Given the description of an element on the screen output the (x, y) to click on. 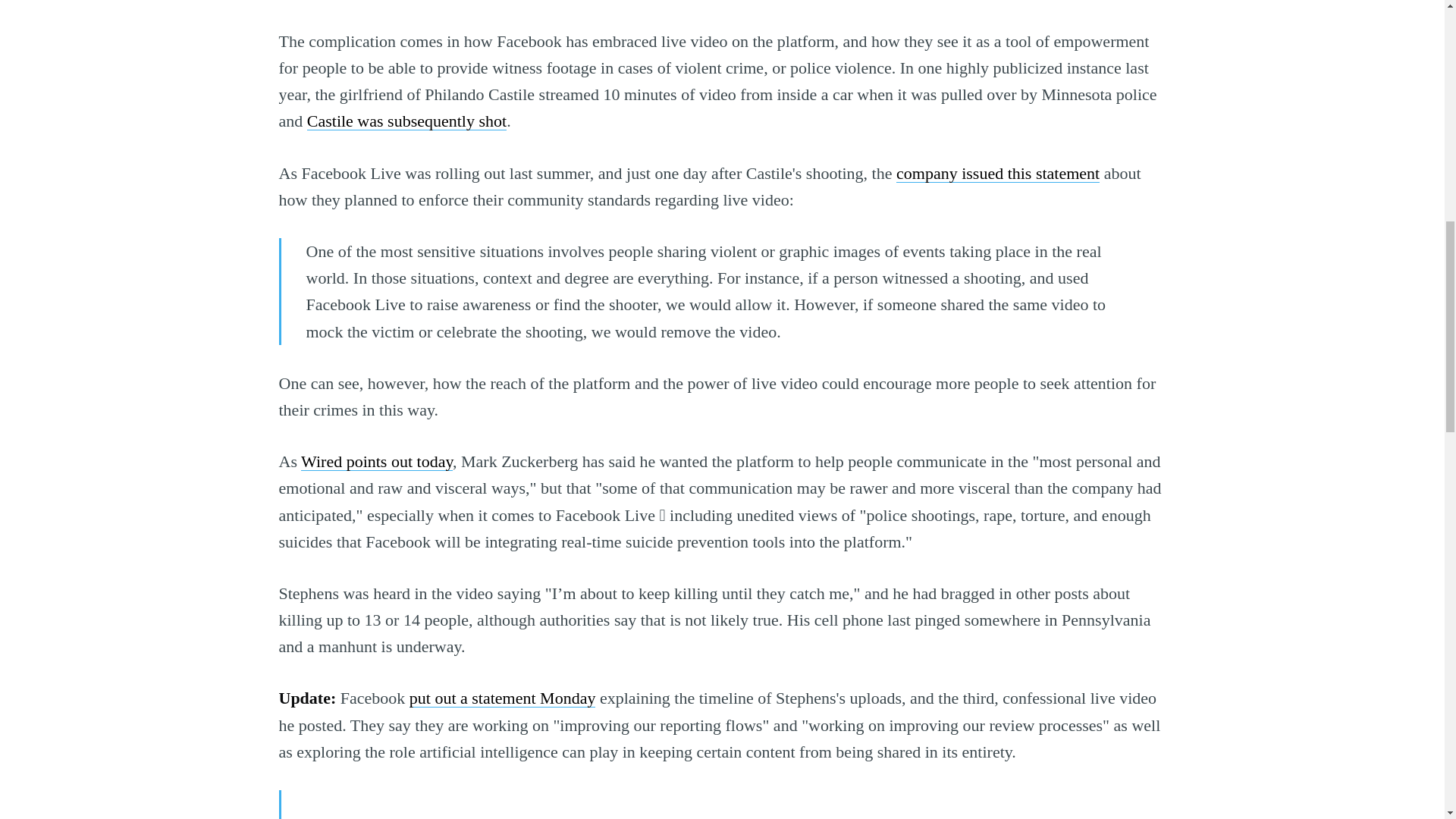
put out a statement Monday (502, 697)
Castile was subsequently shot (406, 120)
company issued this statement (997, 172)
Wired points out today (376, 461)
